Given the description of an element on the screen output the (x, y) to click on. 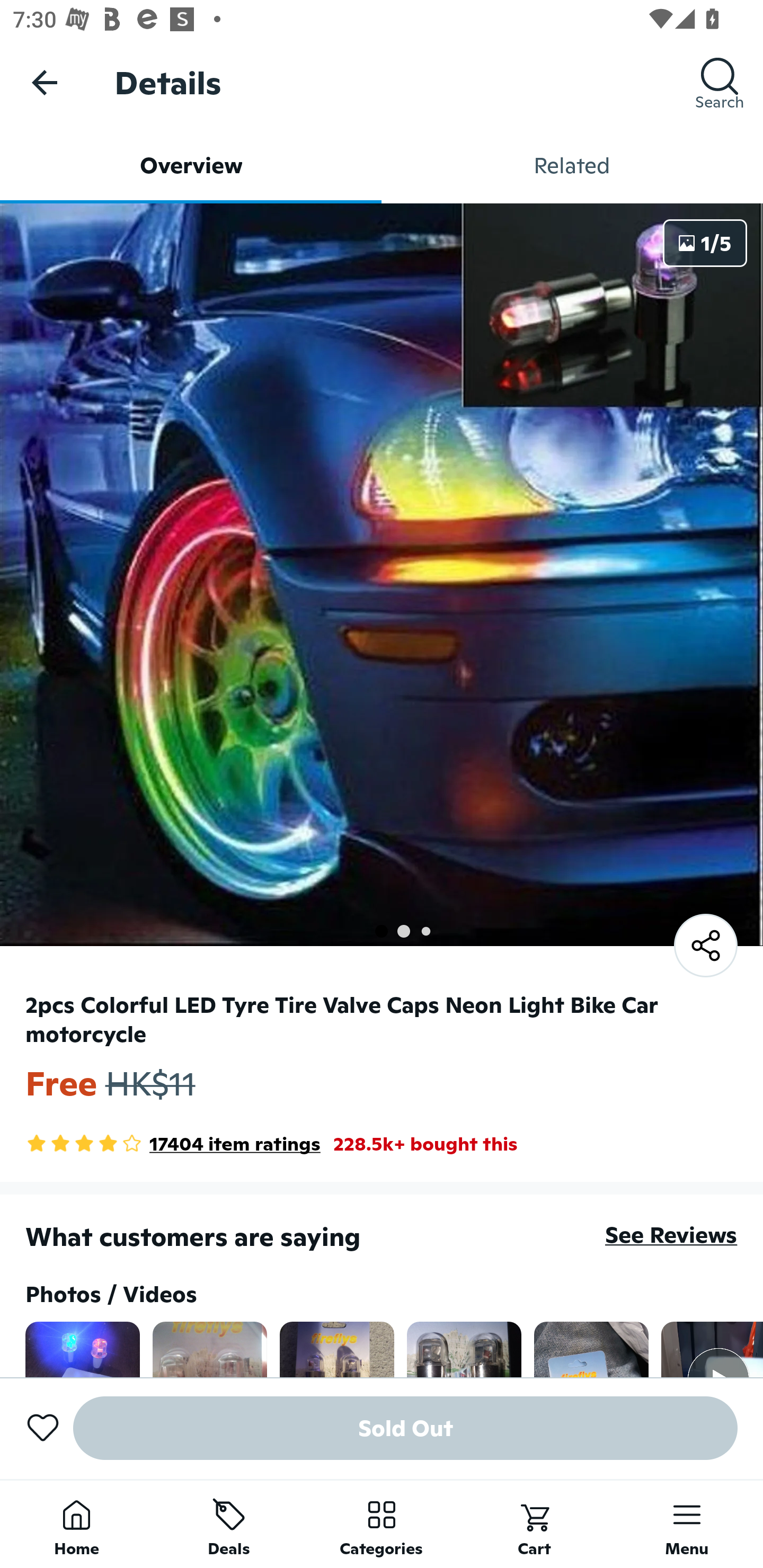
Navigate up (44, 82)
Search (719, 82)
Related (572, 165)
1/5 (705, 242)
3.8 Star Rating 17404 item ratings (172, 1143)
See Reviews (671, 1234)
Sold Out (405, 1428)
Home Deals Categories Cart Menu (381, 1523)
Home (76, 1523)
Deals (228, 1523)
Categories (381, 1523)
Cart (533, 1523)
Menu (686, 1523)
